Given the description of an element on the screen output the (x, y) to click on. 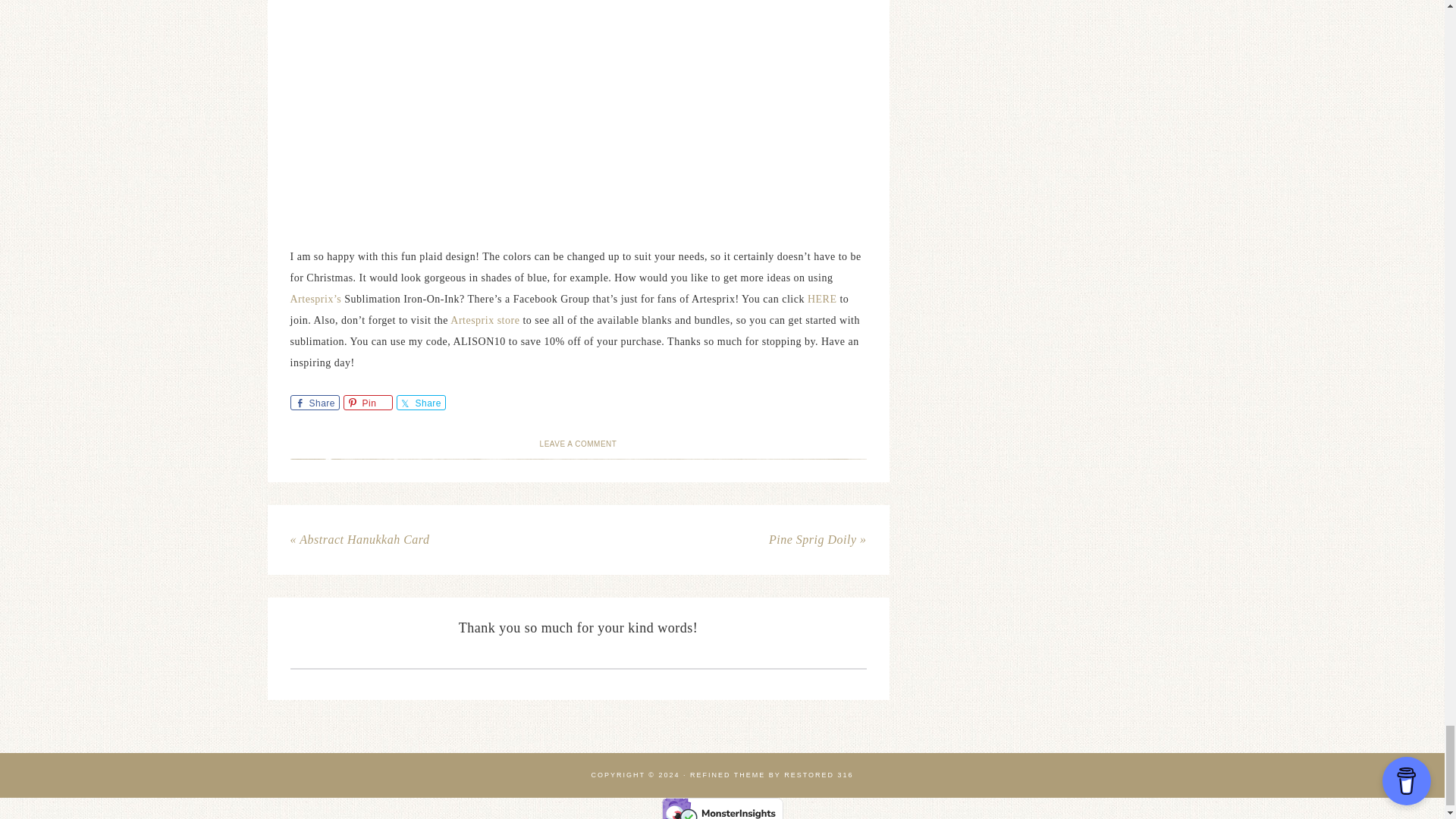
Verified by MonsterInsights (722, 808)
Share (314, 402)
Share (420, 402)
LEAVE A COMMENT (578, 443)
HERE (821, 298)
Pin (366, 402)
Artesprix store (483, 319)
